Given the description of an element on the screen output the (x, y) to click on. 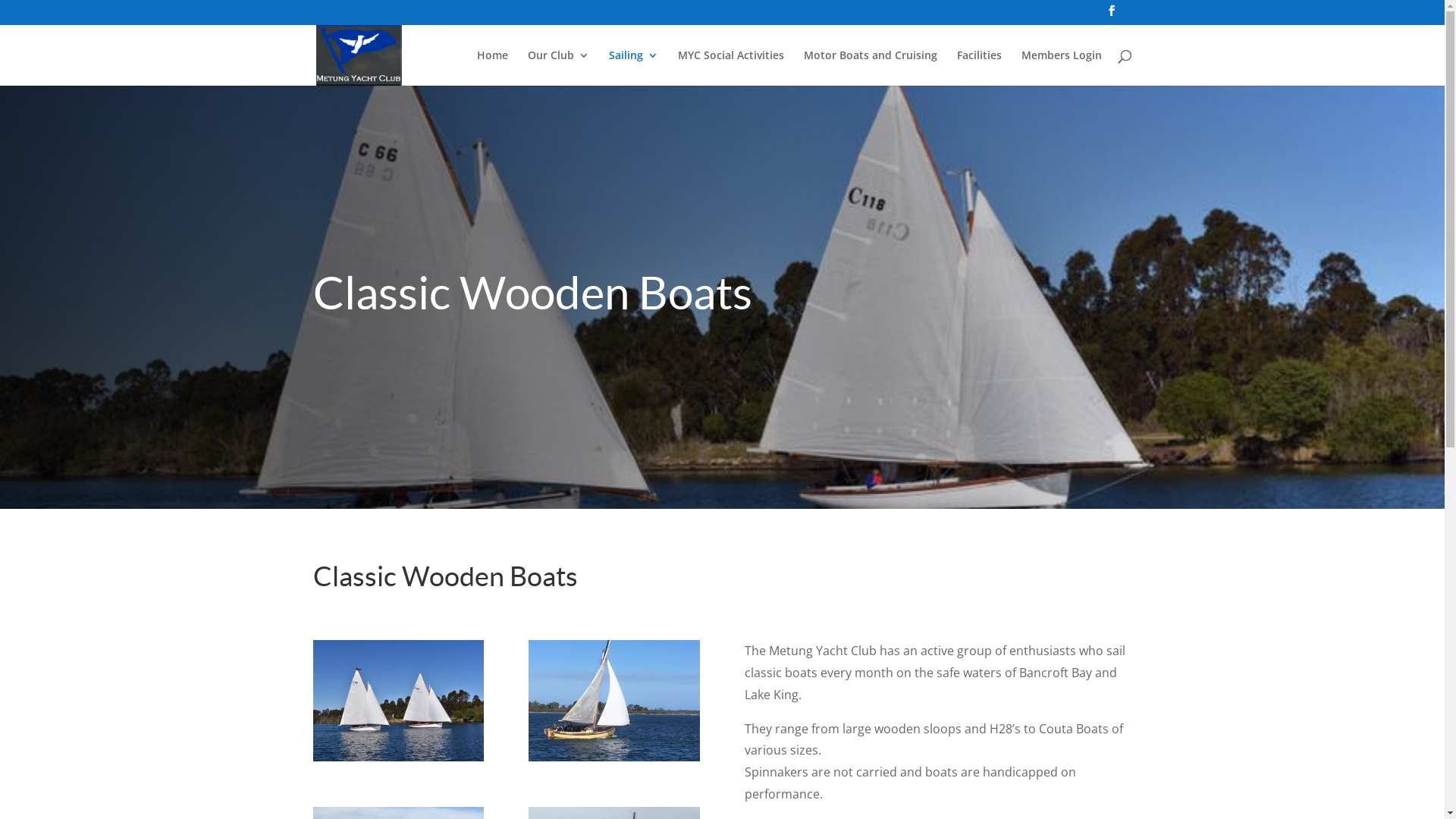
Facilities Element type: text (979, 67)
Home Element type: text (491, 67)
MYC Social Activities Element type: text (730, 67)
Motor Boats and Cruising Element type: text (870, 67)
Our Club Element type: text (558, 67)
Sorrento and Pearl - Metung Yacht Club Element type: hover (397, 756)
Sailing Element type: text (632, 67)
Members Login Element type: text (1060, 67)
